Given the description of an element on the screen output the (x, y) to click on. 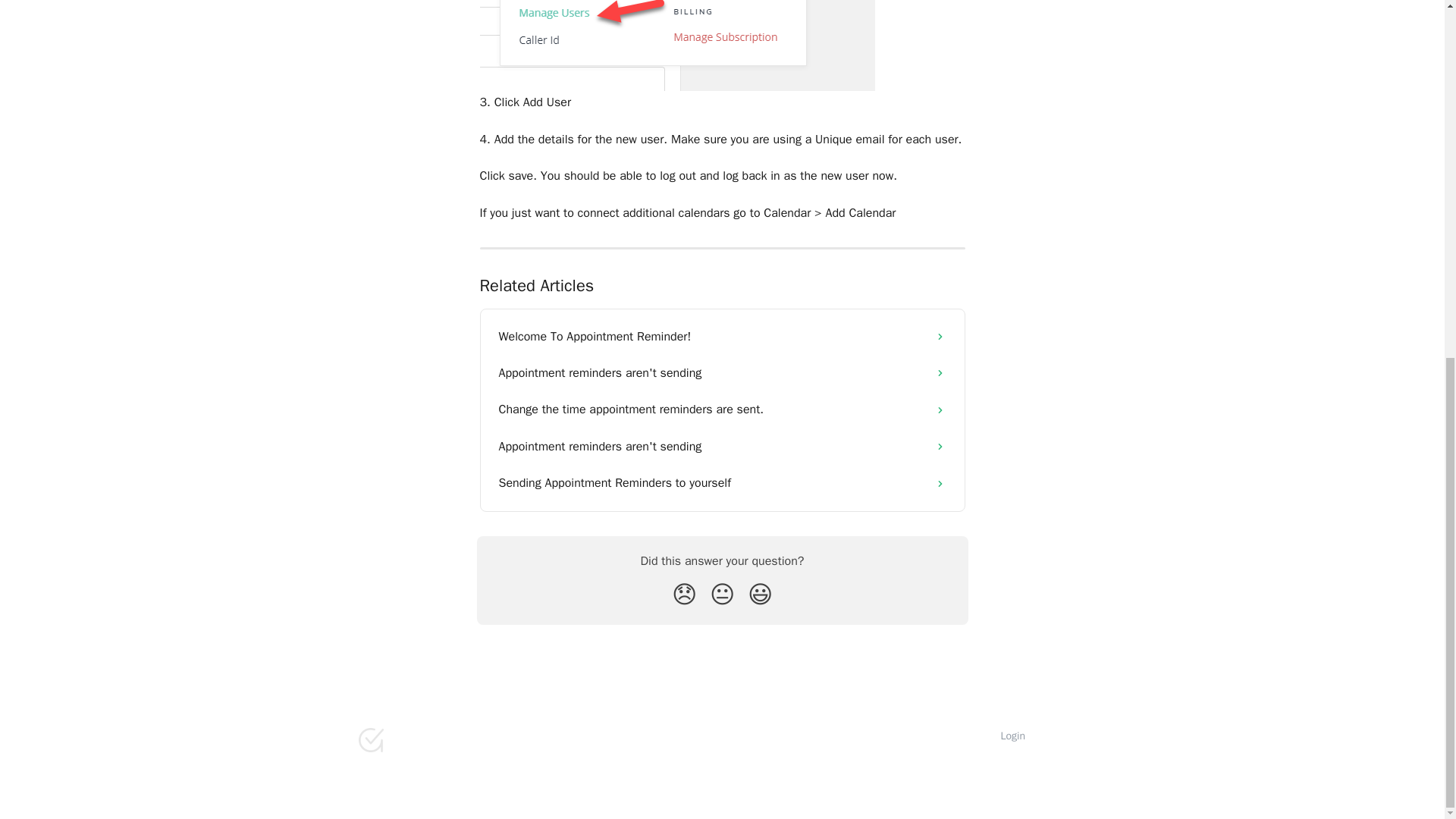
Sending Appointment Reminders to yourself (722, 483)
Change the time appointment reminders are sent. (722, 409)
Login (1013, 735)
Appointment reminders aren't sending (722, 446)
Appointment reminders aren't sending (722, 372)
Welcome To Appointment Reminder! (722, 336)
